Given the description of an element on the screen output the (x, y) to click on. 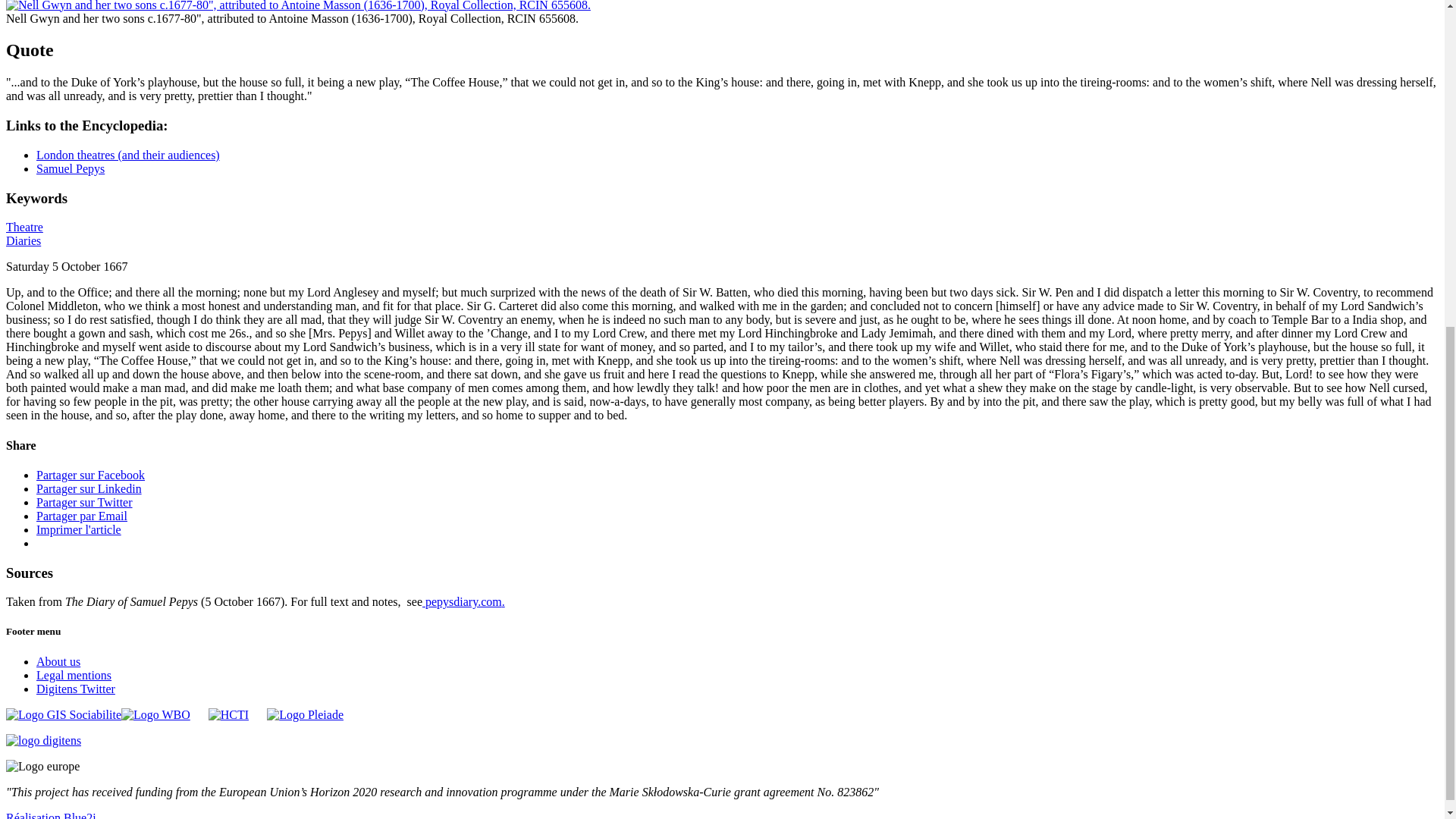
Digitens Twitter (75, 688)
About us (58, 661)
Partager sur Facebook (90, 474)
Partager sur Linkedin (88, 488)
Diaries (22, 240)
. (503, 601)
Partager sur Twitter (84, 502)
 pepysdiary.com (462, 601)
Legal mentions (74, 675)
Samuel Pepys (70, 168)
Partager par Email (82, 515)
Imprimer l'article (78, 529)
Theatre (24, 226)
